Given the description of an element on the screen output the (x, y) to click on. 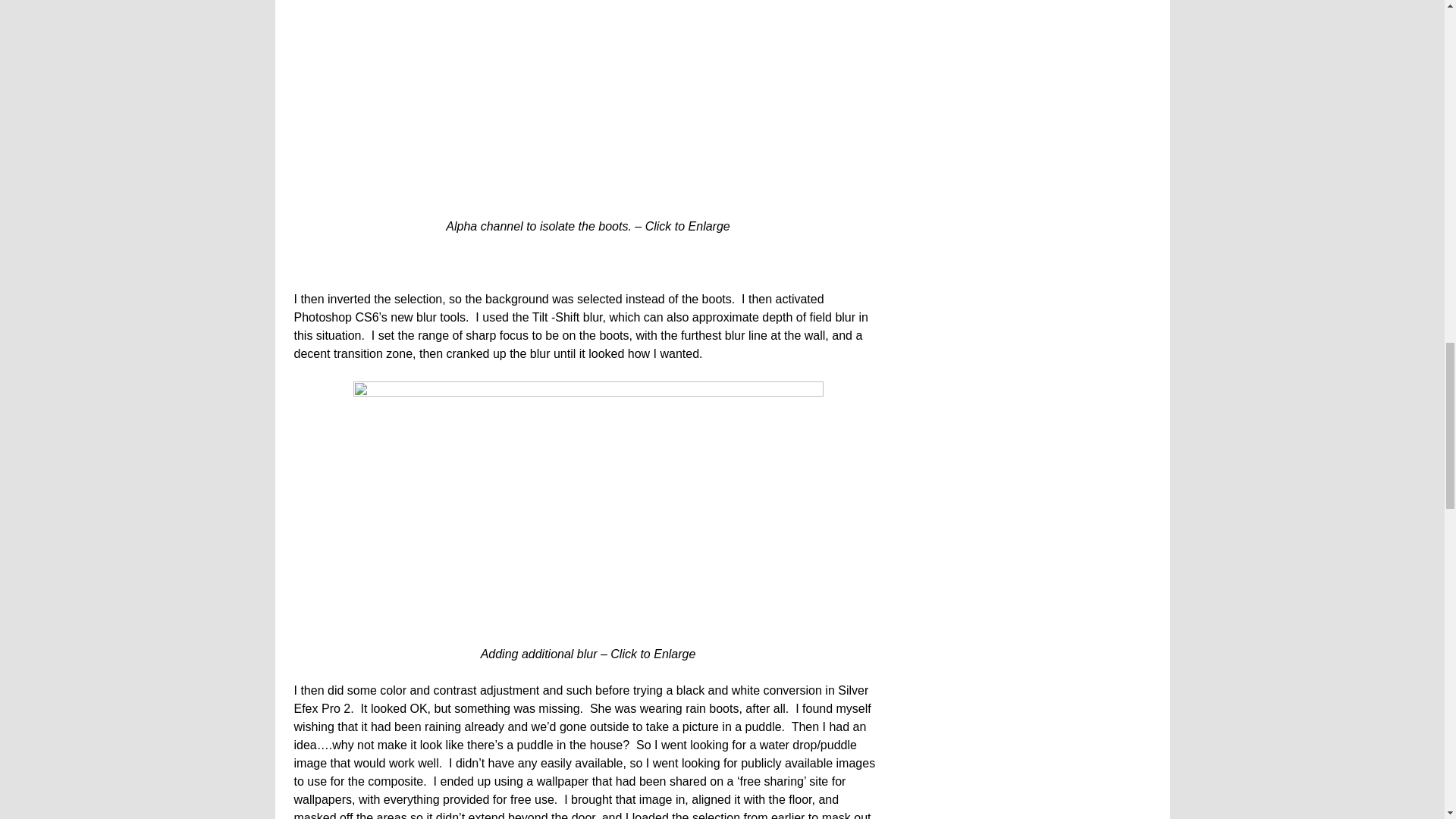
mask (588, 104)
blur (588, 508)
